Given the description of an element on the screen output the (x, y) to click on. 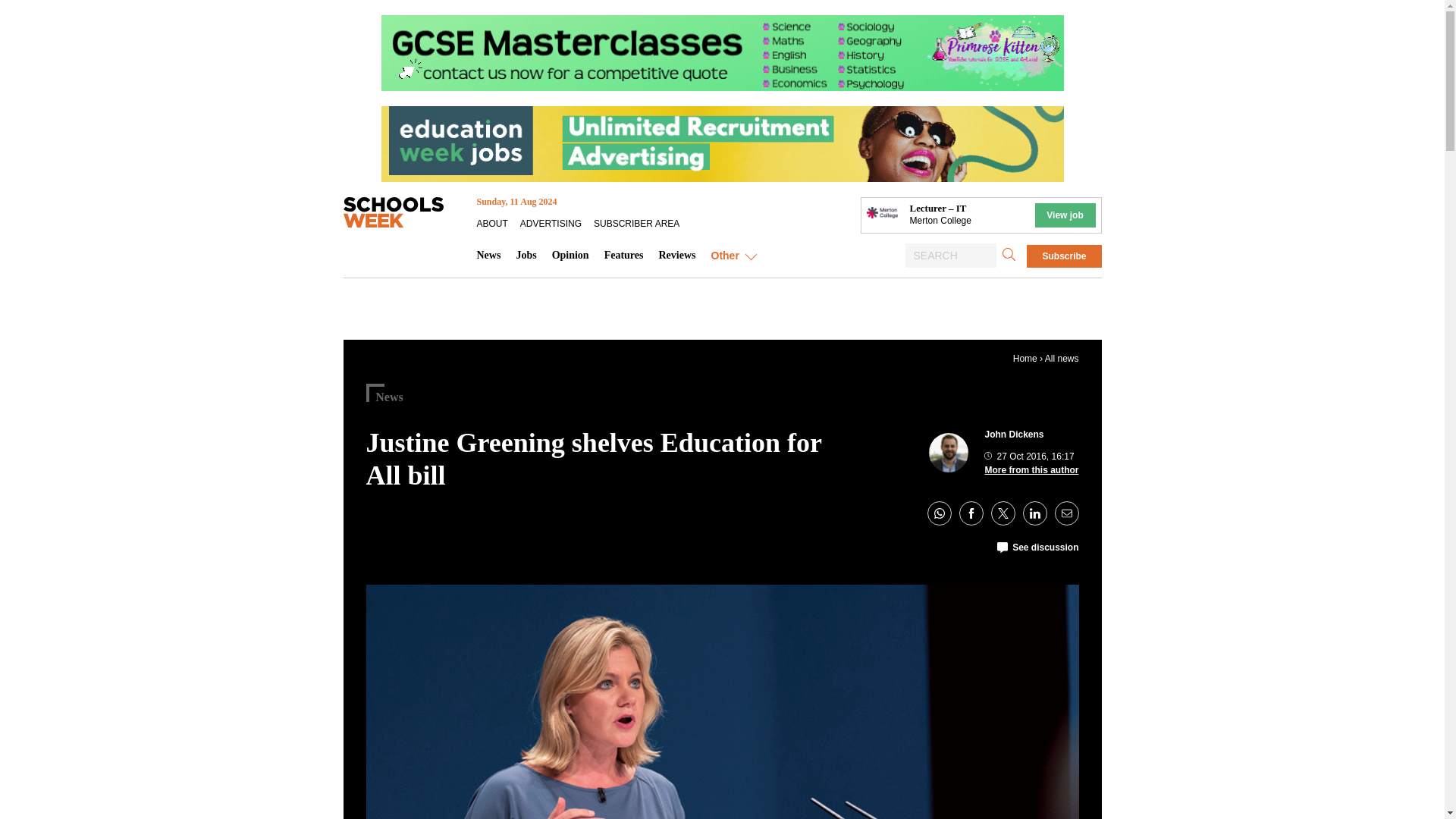
Posts by John Dickens (1013, 434)
Home (1024, 357)
All news (1061, 357)
